Given the description of an element on the screen output the (x, y) to click on. 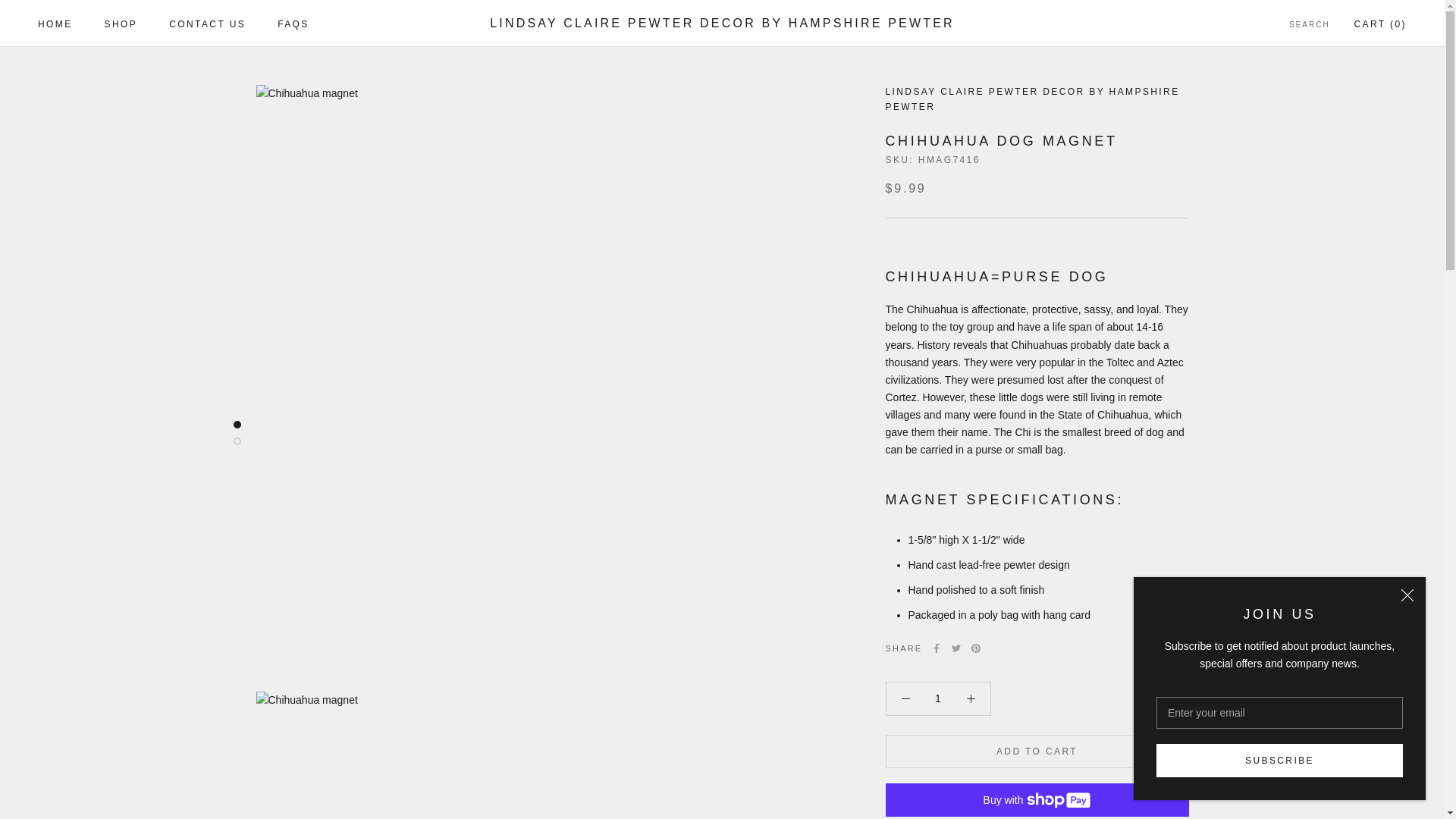
SUBSCRIBE (1279, 760)
1 (54, 23)
